Given the description of an element on the screen output the (x, y) to click on. 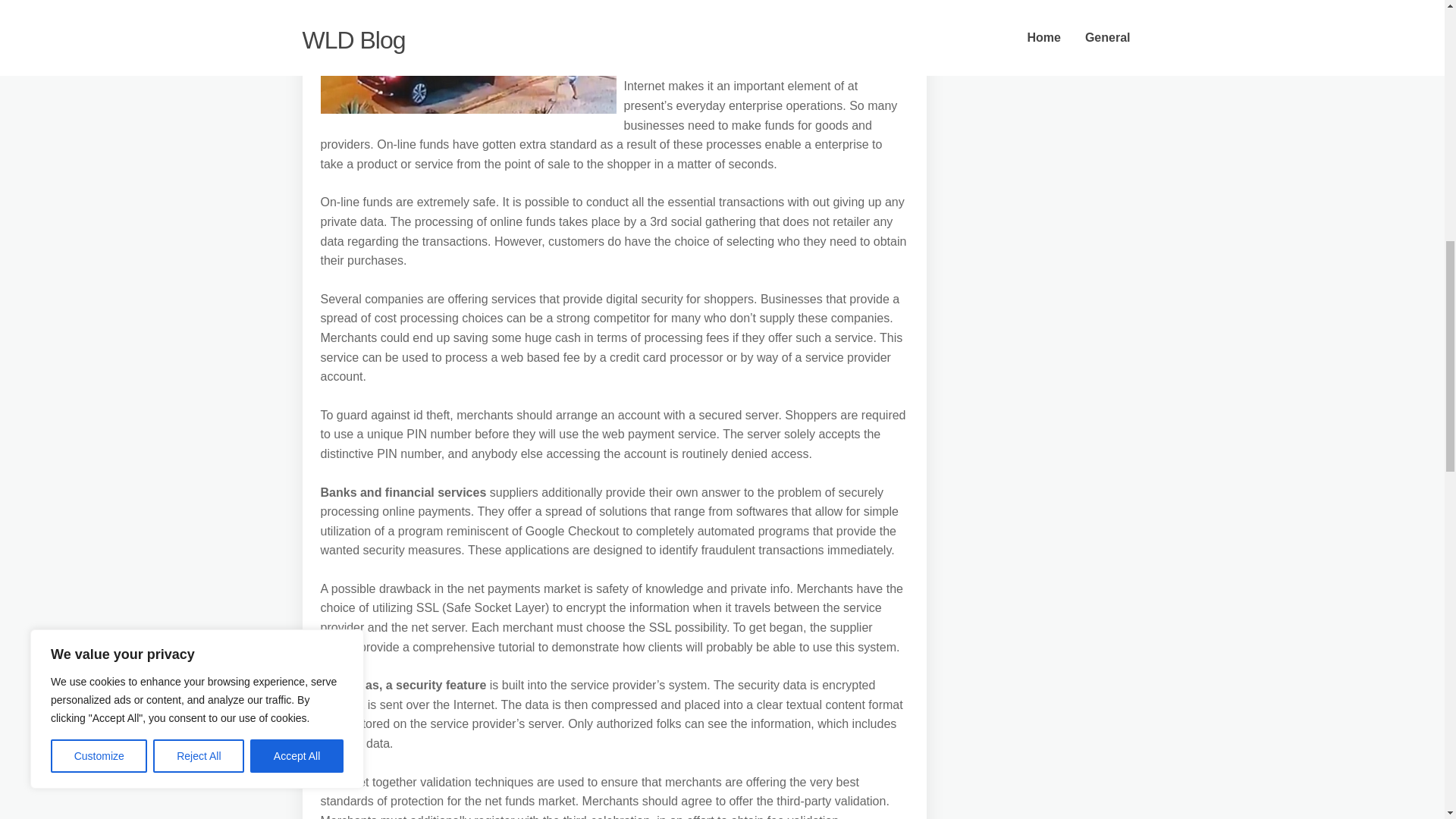
selling products (689, 66)
